Given the description of an element on the screen output the (x, y) to click on. 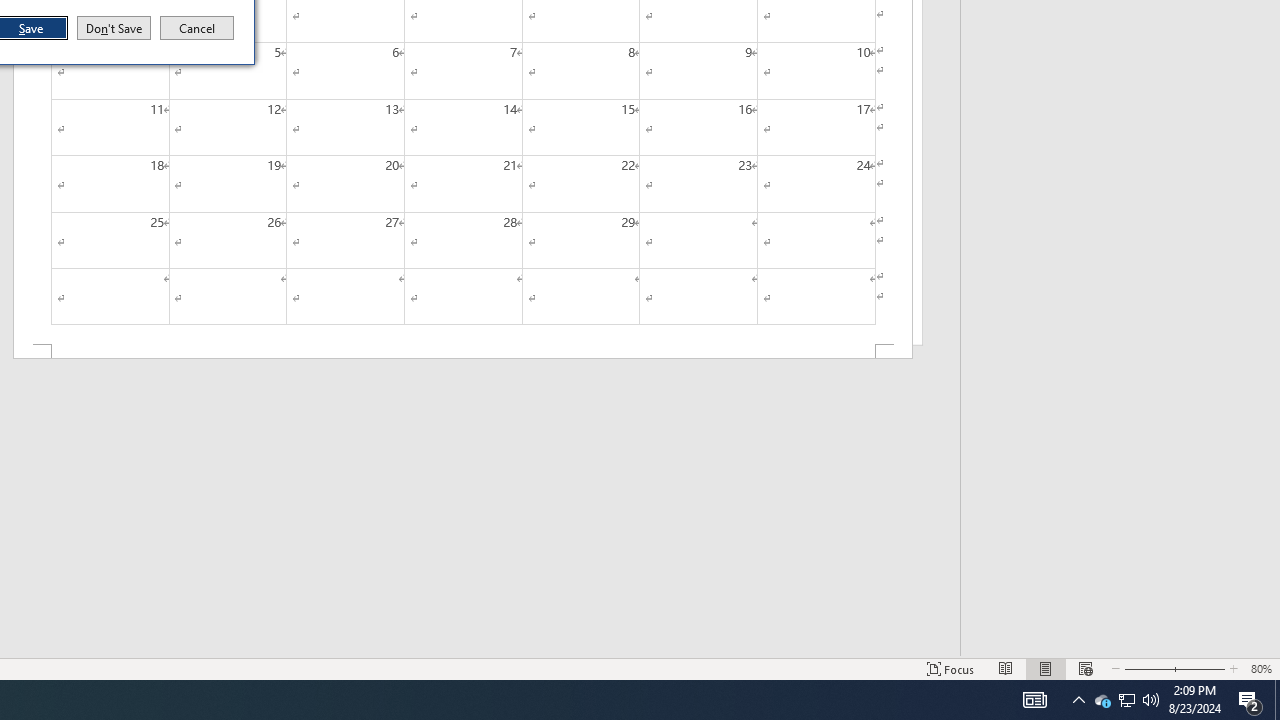
Print Layout (1046, 668)
Read Mode (1005, 668)
Action Center, 2 new notifications (1250, 699)
Notification Chevron (1078, 699)
Zoom In (1102, 699)
Web Layout (1195, 668)
AutomationID: 4105 (1085, 668)
Cancel (1034, 699)
Q2790: 100% (1126, 699)
